Given the description of an element on the screen output the (x, y) to click on. 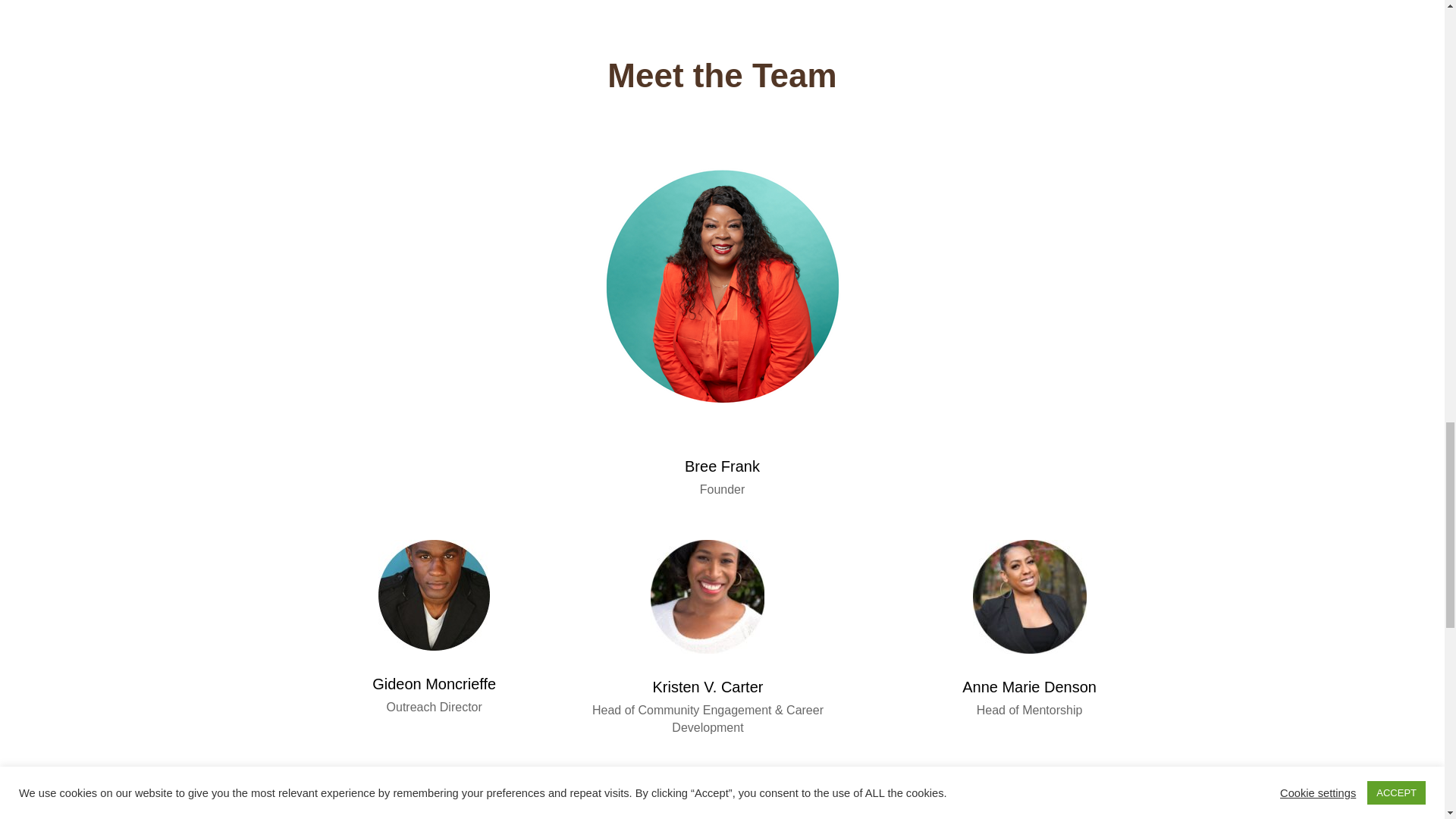
Gideon Moncrieffe (433, 594)
Kristen V. Carter (707, 596)
Anne Marie Denson (1029, 596)
